Given the description of an element on the screen output the (x, y) to click on. 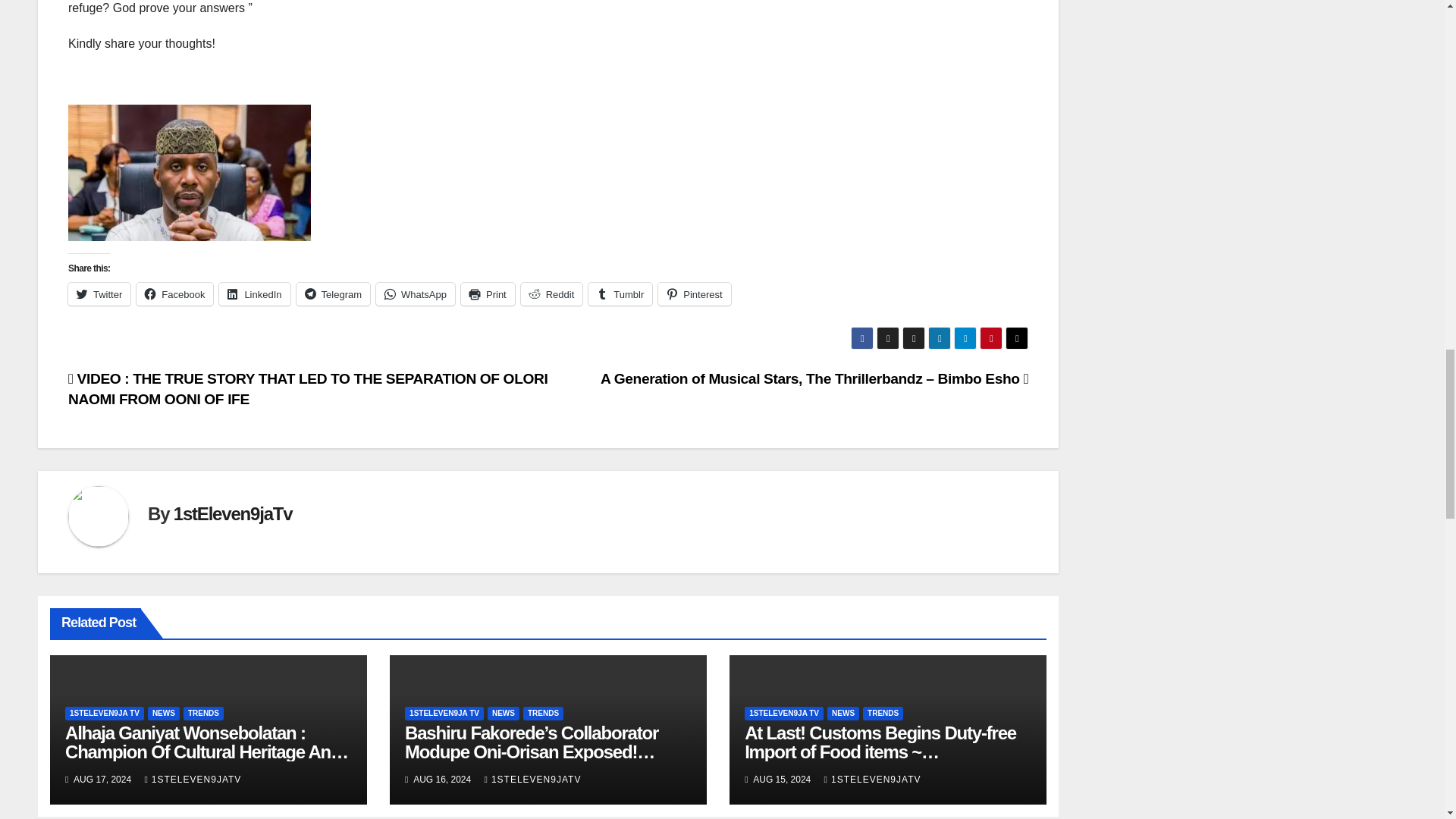
WhatsApp (414, 293)
Click to print (488, 293)
Telegram (333, 293)
Click to share on WhatsApp (414, 293)
Click to share on LinkedIn (254, 293)
Click to share on Twitter (99, 293)
Facebook (174, 293)
Click to share on Telegram (333, 293)
Click to share on Reddit (552, 293)
Tumblr (620, 293)
